Given the description of an element on the screen output the (x, y) to click on. 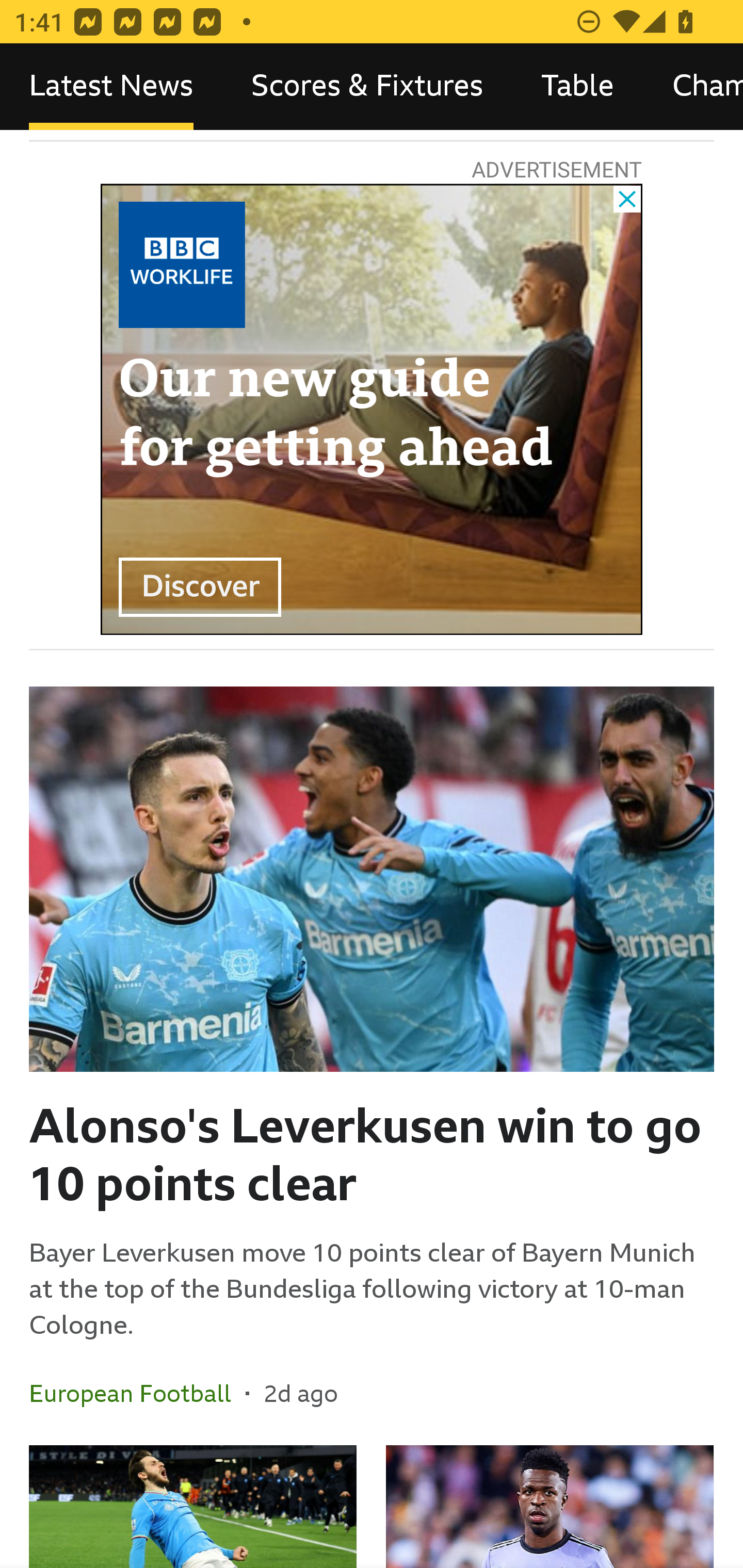
Latest News, selected Latest News (111, 86)
Scores & Fixtures (367, 86)
Table (577, 86)
Champions League (693, 86)
